Given the description of an element on the screen output the (x, y) to click on. 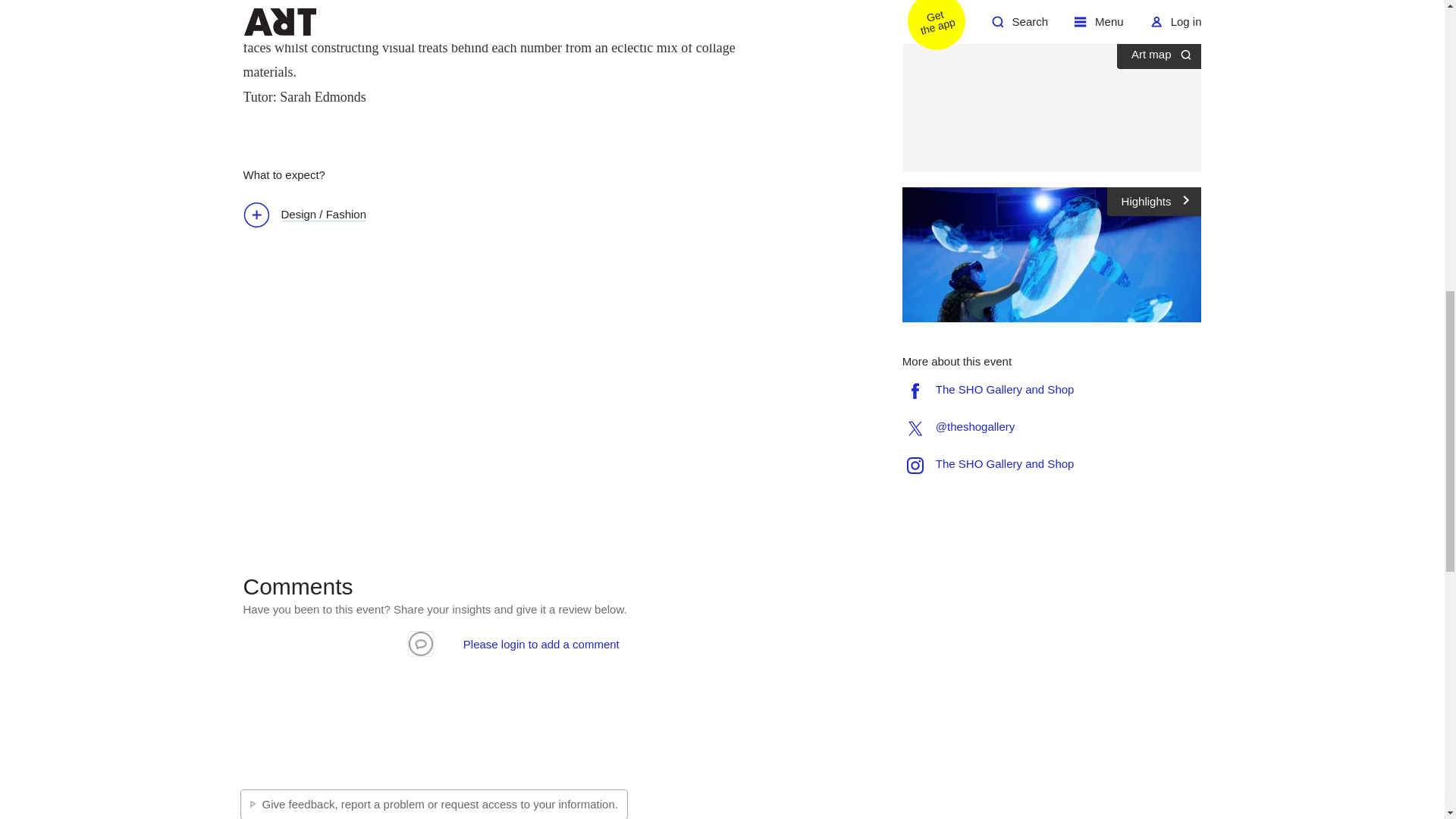
opening soon (1015, 15)
11 current events (998, 1)
what's popular (1111, 15)
